Given the description of an element on the screen output the (x, y) to click on. 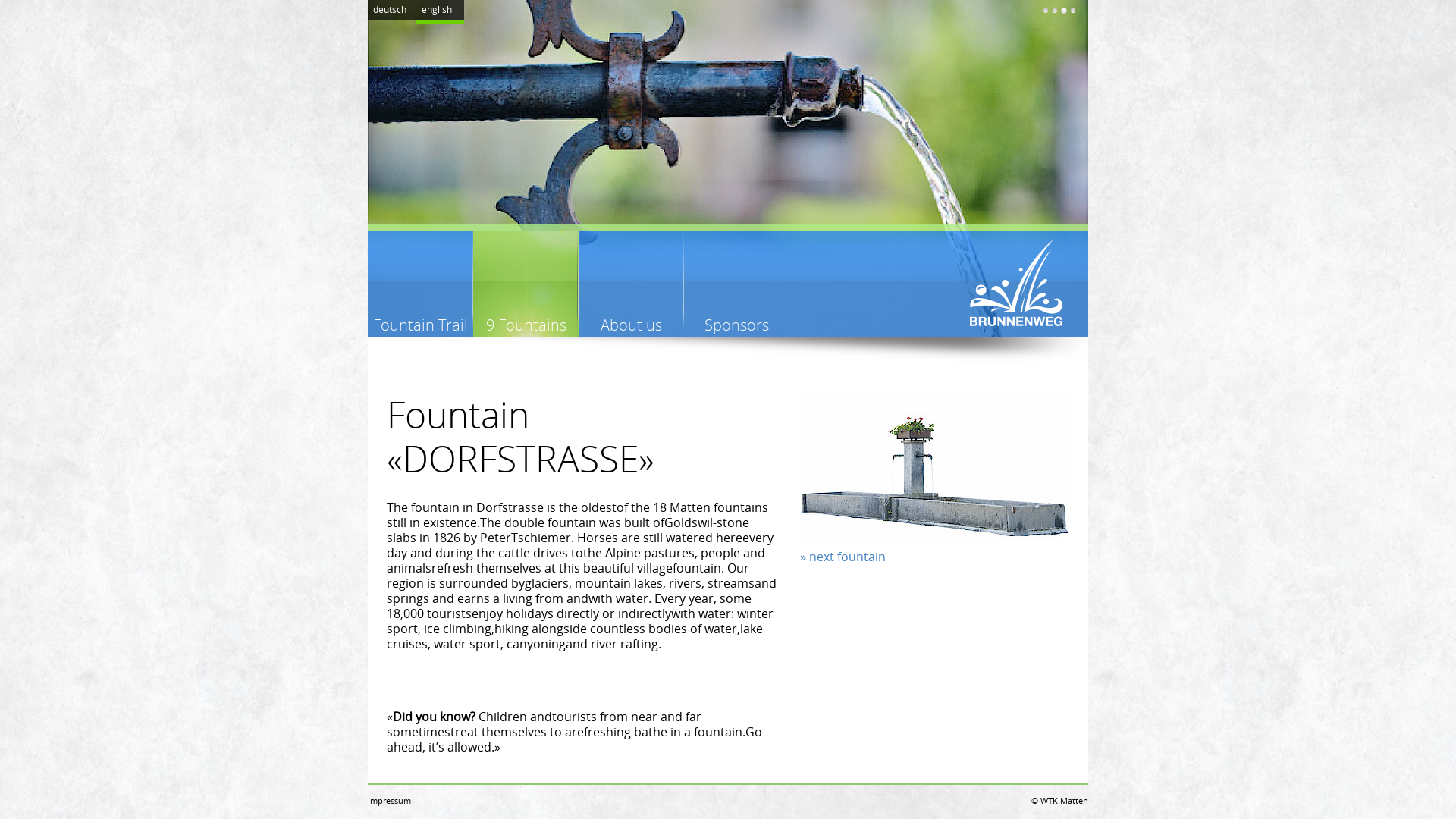
3 Element type: text (1063, 9)
english Element type: text (440, 11)
Fountain Trail Element type: text (420, 283)
2 Element type: text (1054, 9)
4 Element type: text (1073, 9)
deutsch Element type: text (391, 10)
1 Element type: text (1045, 9)
About us Element type: text (631, 283)
9 Fountains Element type: text (525, 283)
Sponsors Element type: text (736, 283)
Impressum Element type: text (389, 801)
